Given the description of an element on the screen output the (x, y) to click on. 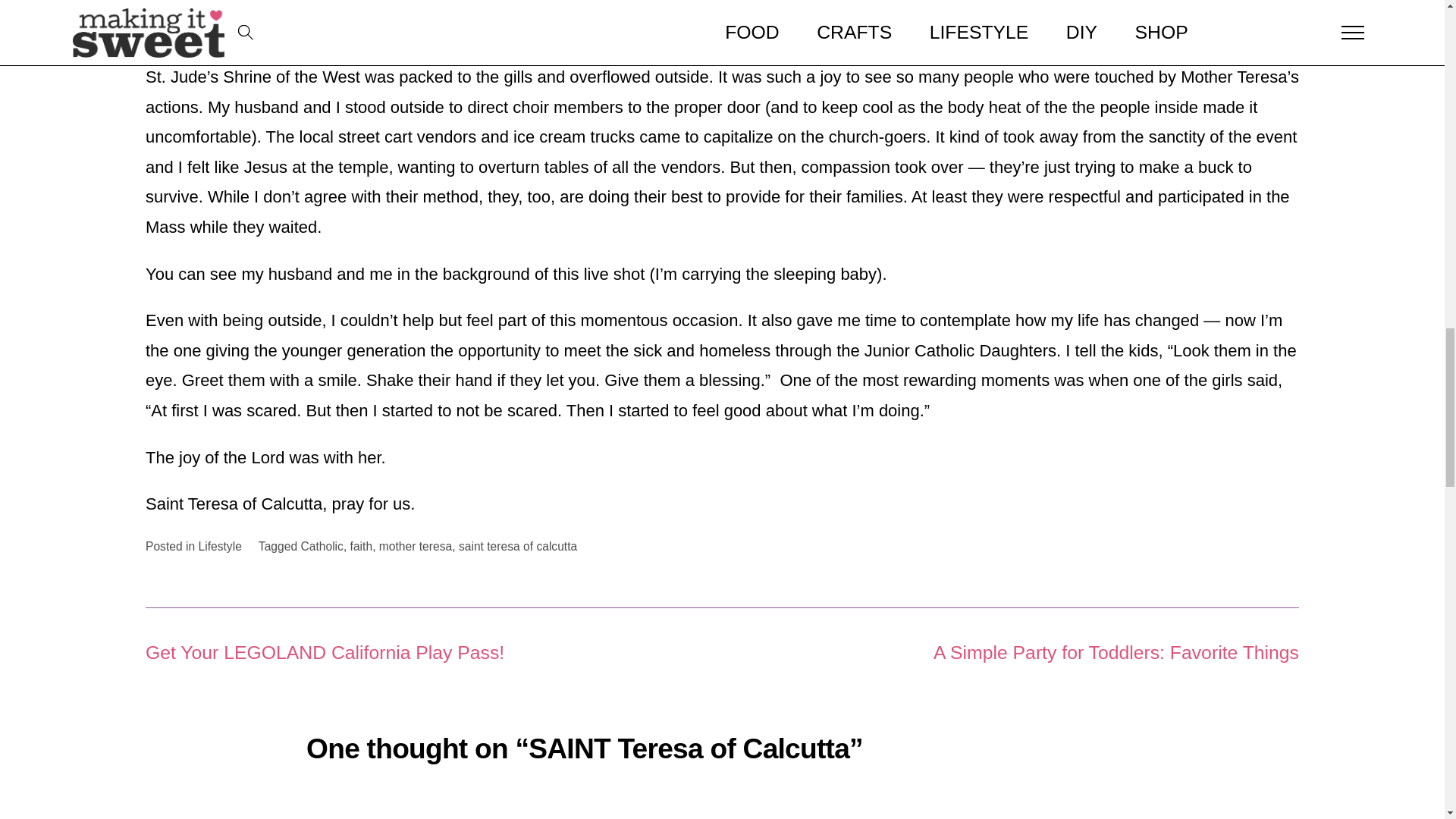
mother teresa (414, 545)
A Simple Party for Toddlers: Favorite Things (1115, 652)
faith (361, 545)
Catholic (320, 545)
Lifestyle (219, 545)
Get Your LEGOLAND California Play Pass! (324, 652)
Angela (391, 817)
saint teresa of calcutta (517, 545)
